Given the description of an element on the screen output the (x, y) to click on. 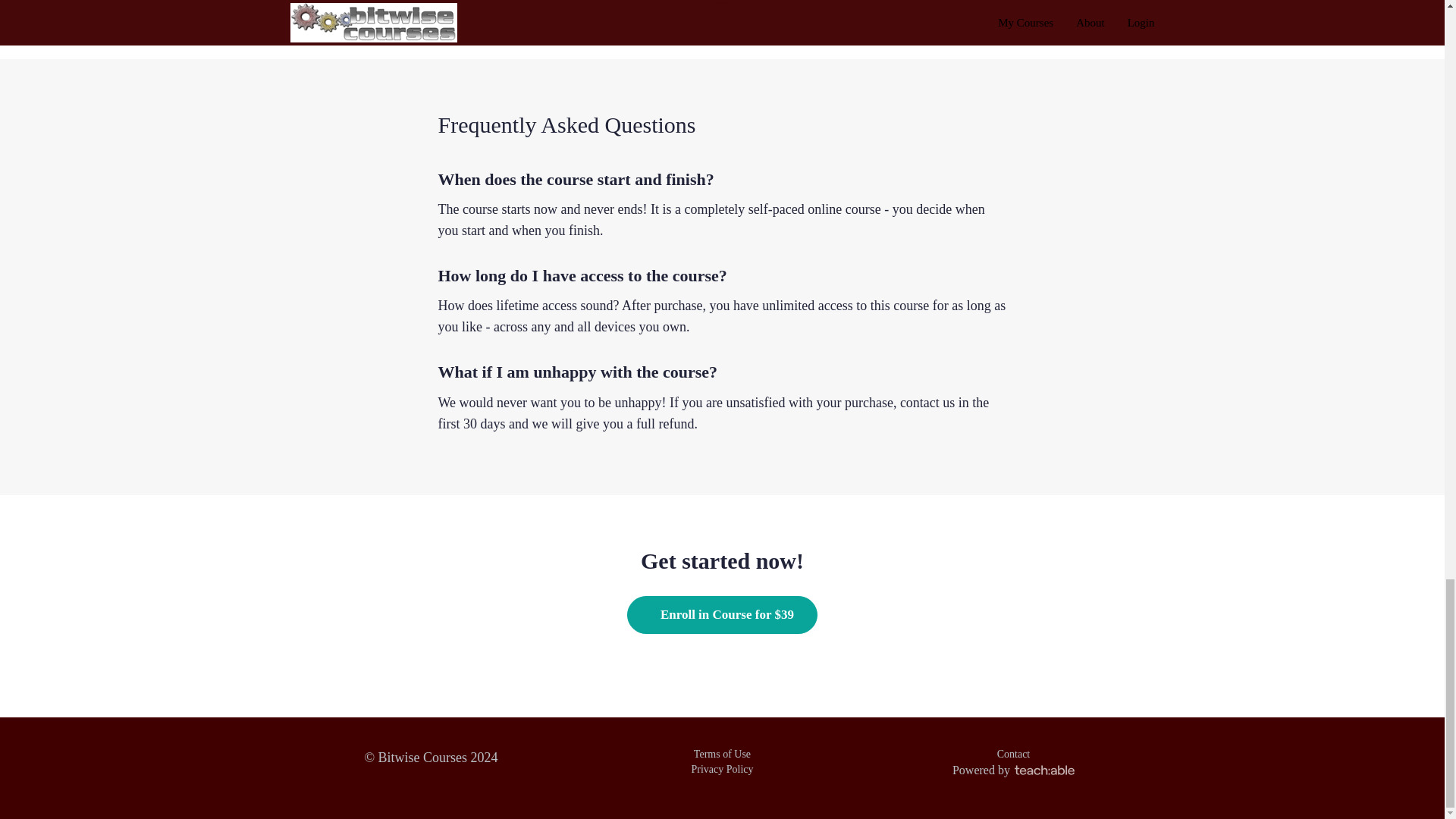
Contact (1013, 754)
Powered by (1013, 769)
Terms of Use (722, 754)
Privacy Policy (721, 768)
